Given the description of an element on the screen output the (x, y) to click on. 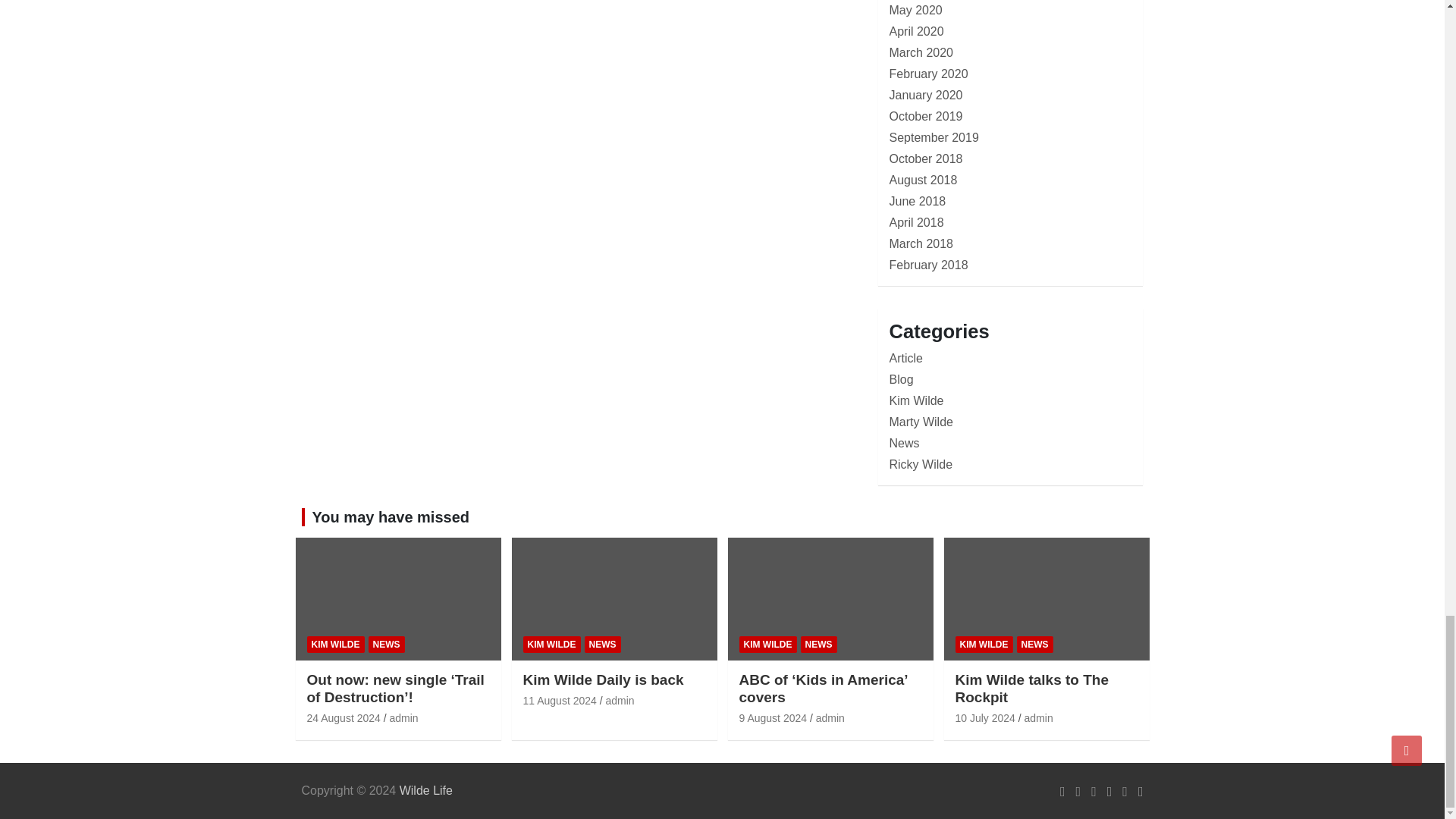
Wilde Life (425, 789)
Kim Wilde talks to The Rockpit (984, 717)
Kim Wilde Daily is back (559, 700)
